Given the description of an element on the screen output the (x, y) to click on. 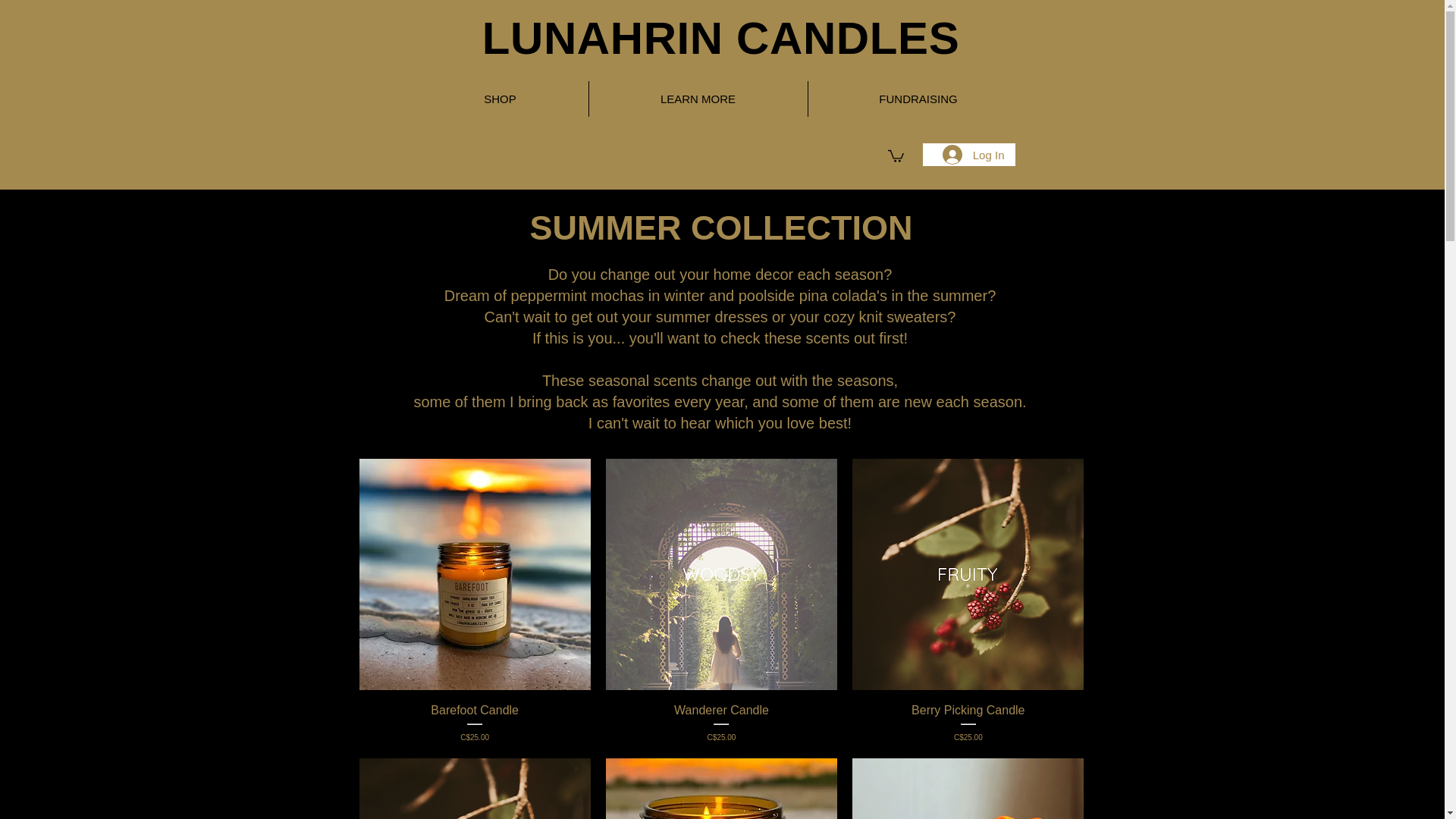
LEARN MORE (697, 99)
FUNDRAISING (918, 99)
Log In (972, 154)
